Given the description of an element on the screen output the (x, y) to click on. 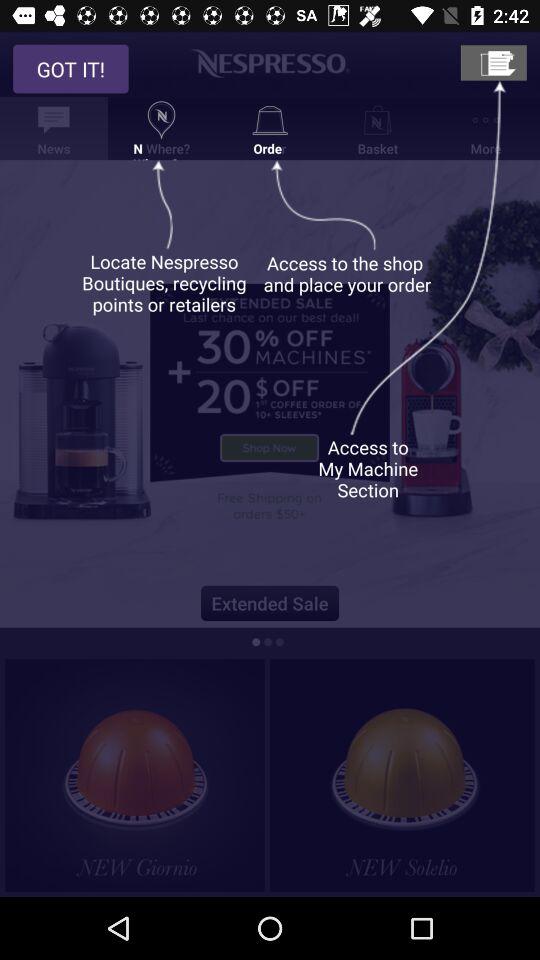
select an content (402, 775)
